Given the description of an element on the screen output the (x, y) to click on. 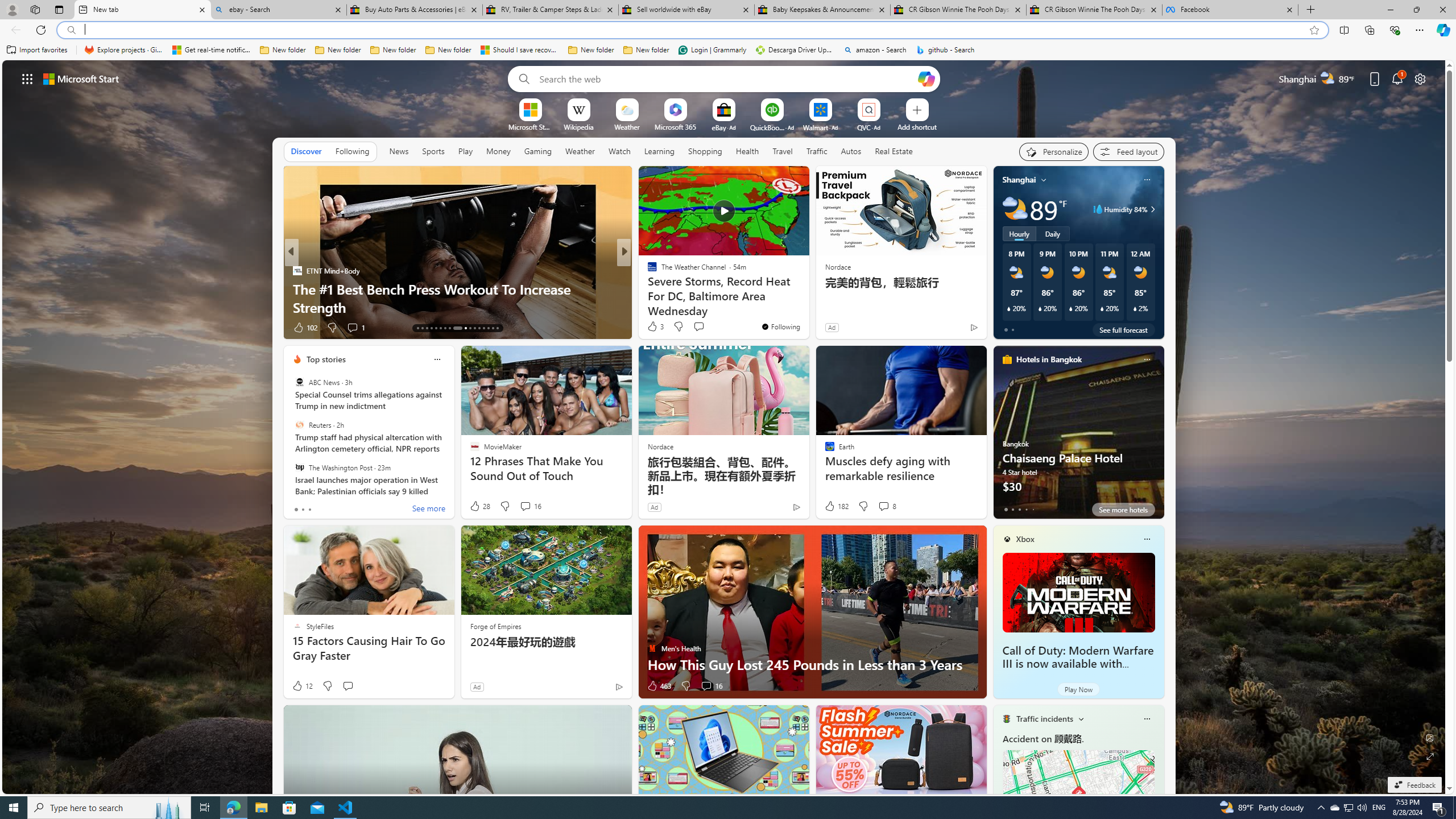
116 Like (654, 327)
Athletes That Died Far Too Young (807, 307)
See full forecast (1123, 329)
AutomationID: tab-25 (478, 328)
The History of the Windows Start Menu (807, 307)
99 Like (652, 327)
